Given the description of an element on the screen output the (x, y) to click on. 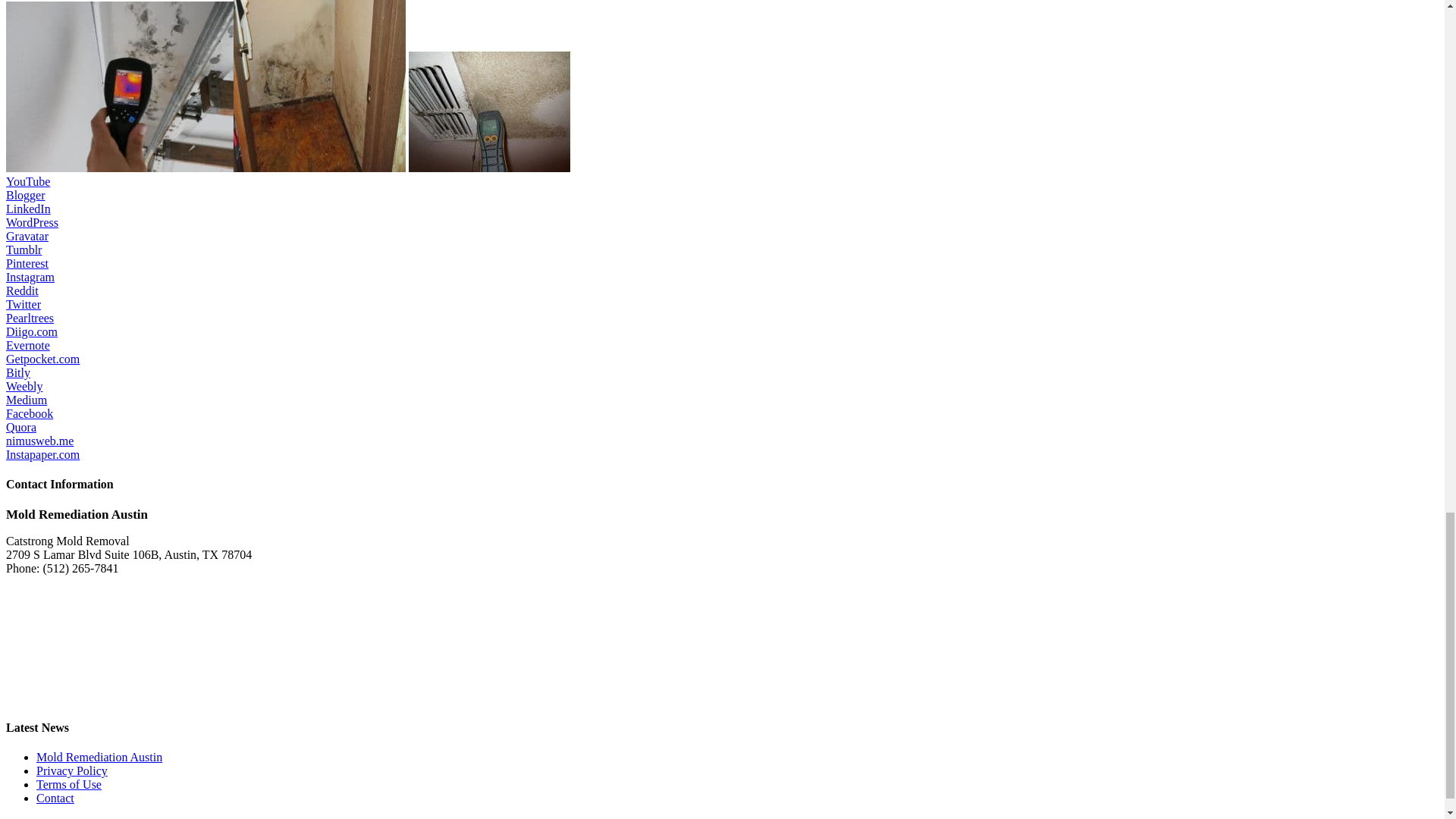
Blogger (25, 195)
Diigo.com (31, 331)
Facebook (28, 413)
YouTube (27, 181)
Gravatar (26, 236)
Instagram (30, 277)
Bitly (17, 372)
WordPress (31, 222)
Tumblr (23, 249)
Reddit (22, 290)
